Given the description of an element on the screen output the (x, y) to click on. 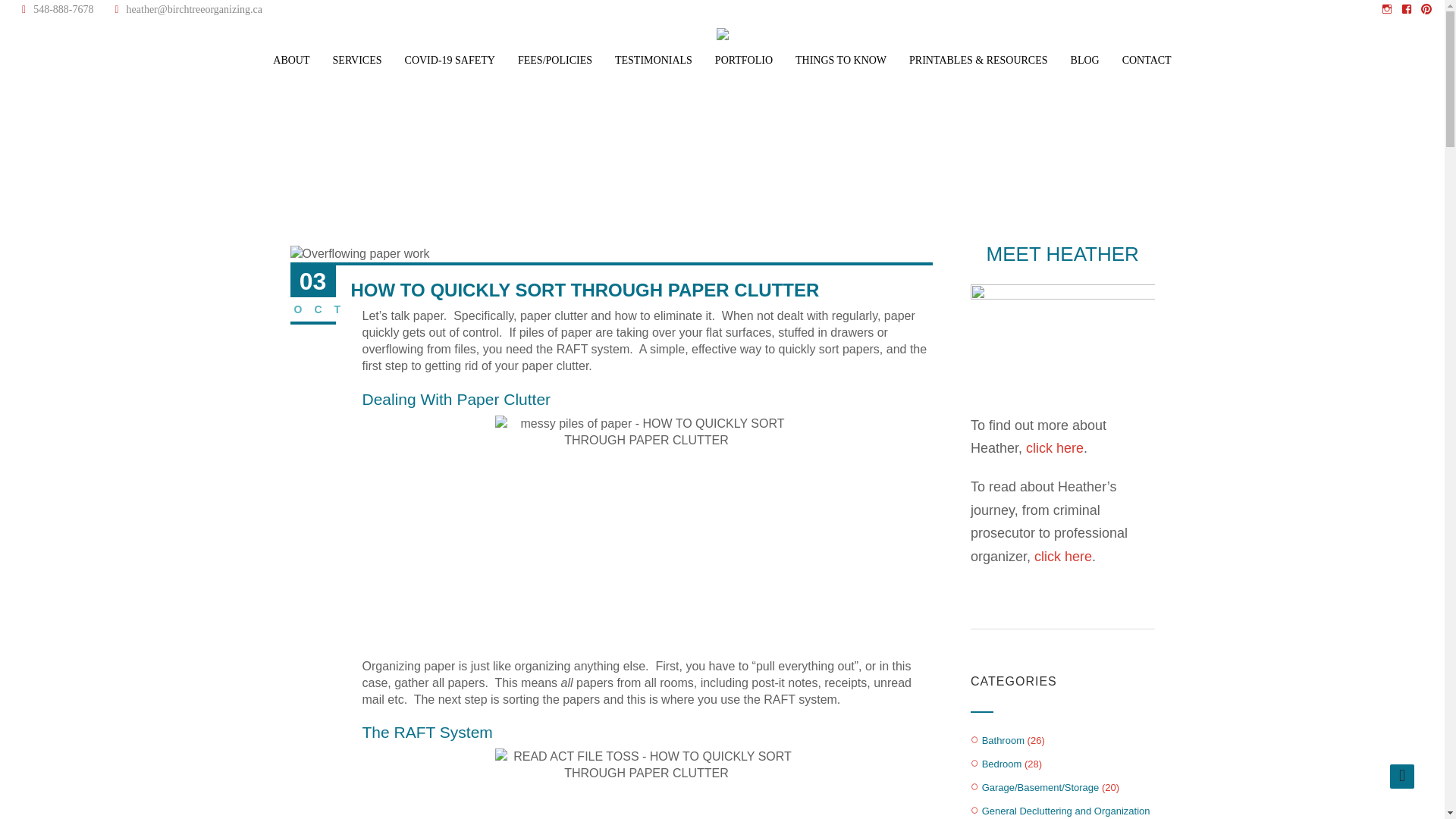
THINGS TO KNOW Element type: text (840, 60)
click here Element type: text (1054, 447)
PORTFOLIO Element type: text (743, 60)
Instagram Element type: text (1389, 9)
General Decluttering and Organization Element type: text (1066, 810)
COVID-19 SAFETY Element type: text (449, 60)
Pinterest Element type: text (1425, 9)
BLOG Element type: text (1084, 60)
Bedroom Element type: text (1002, 763)
ABOUT Element type: text (290, 60)
CONTACT Element type: text (1146, 60)
Facebook Element type: text (1407, 9)
click here Element type: text (1063, 556)
PRINTABLES & RESOURCES Element type: text (977, 60)
SERVICES Element type: text (357, 60)
HOW TO QUICKLY SORT THROUGH PAPER CLUTTER Element type: hover (645, 529)
548-888-7678 Element type: text (57, 9)
Bathroom Element type: text (1003, 740)
TESTIMONIALS Element type: text (653, 60)
heather@birchtreeorganizing.ca Element type: text (185, 9)
Garage/Basement/Storage Element type: text (1040, 787)
Canva Blog banner Element type: hover (359, 253)
FEES/POLICIES Element type: text (554, 60)
